Given the description of an element on the screen output the (x, y) to click on. 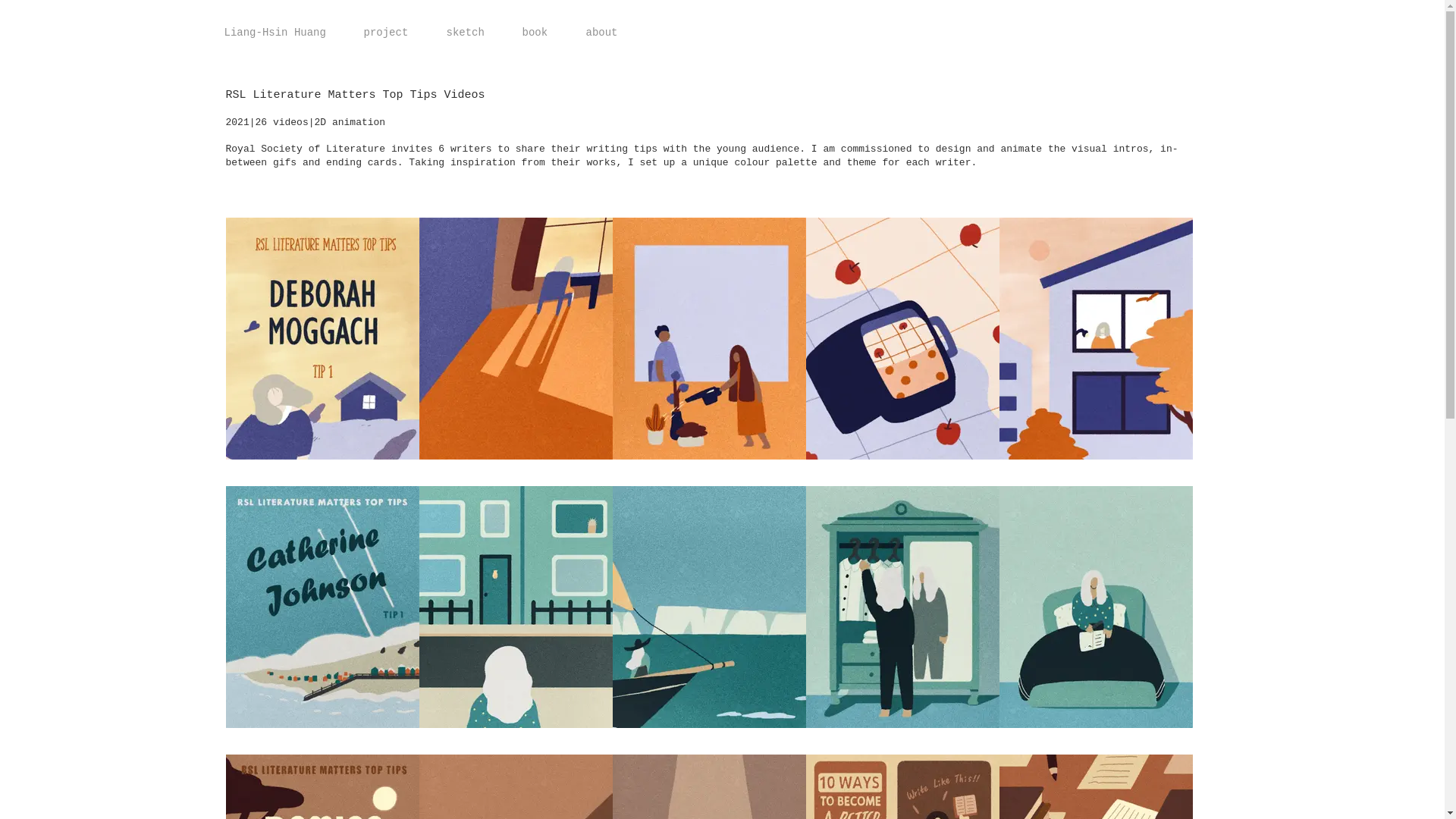
sketch (465, 32)
book (535, 32)
Liang-Hsin Huang (274, 32)
project (384, 32)
about (602, 32)
